Given the description of an element on the screen output the (x, y) to click on. 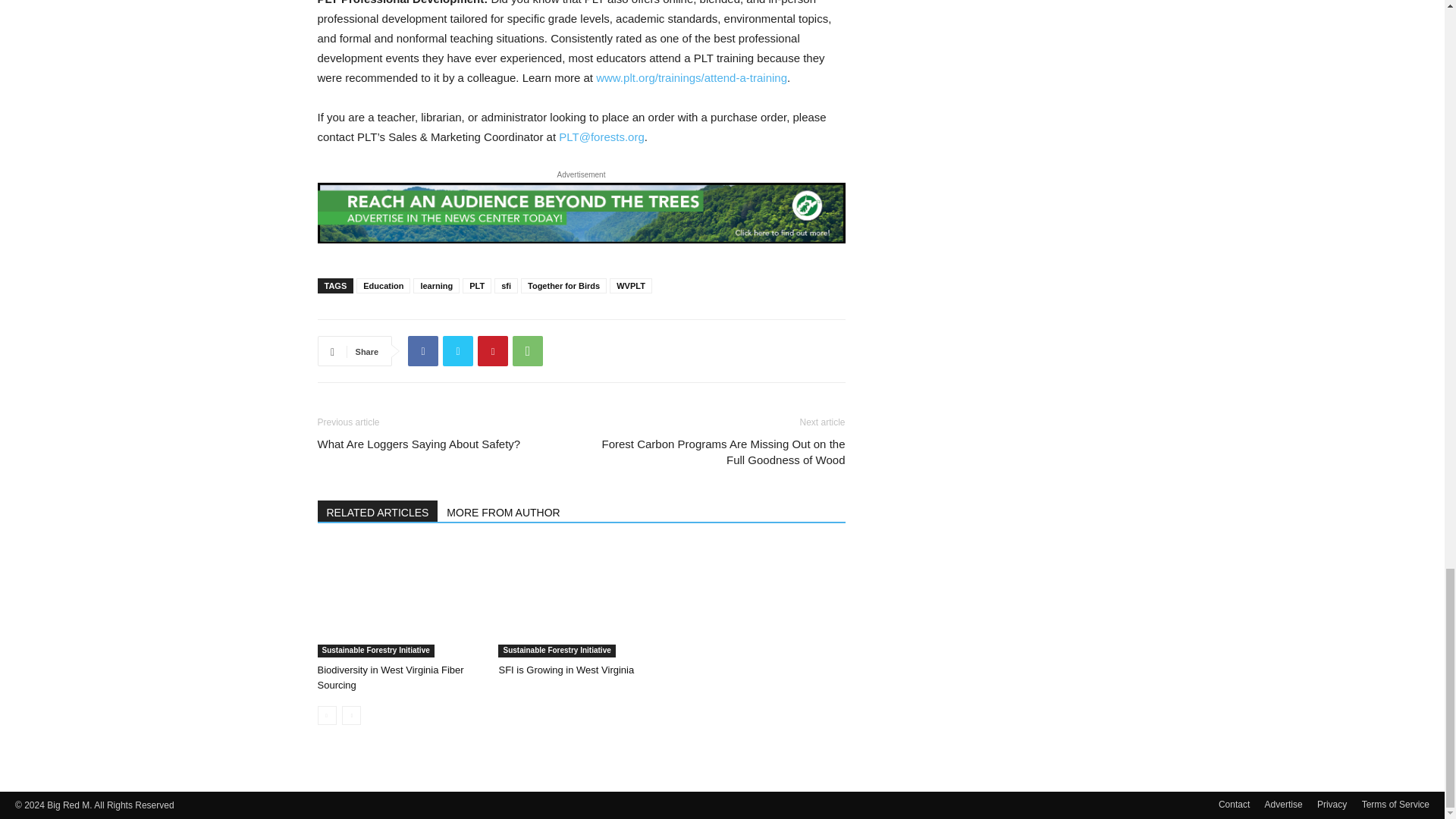
SFI is Growing in West Virginia (580, 600)
Biodiversity in West Virginia Fiber Sourcing (399, 600)
Pinterest (492, 350)
WhatsApp (527, 350)
Biodiversity in West Virginia Fiber Sourcing (390, 677)
Facebook (422, 350)
Twitter (457, 350)
